Given the description of an element on the screen output the (x, y) to click on. 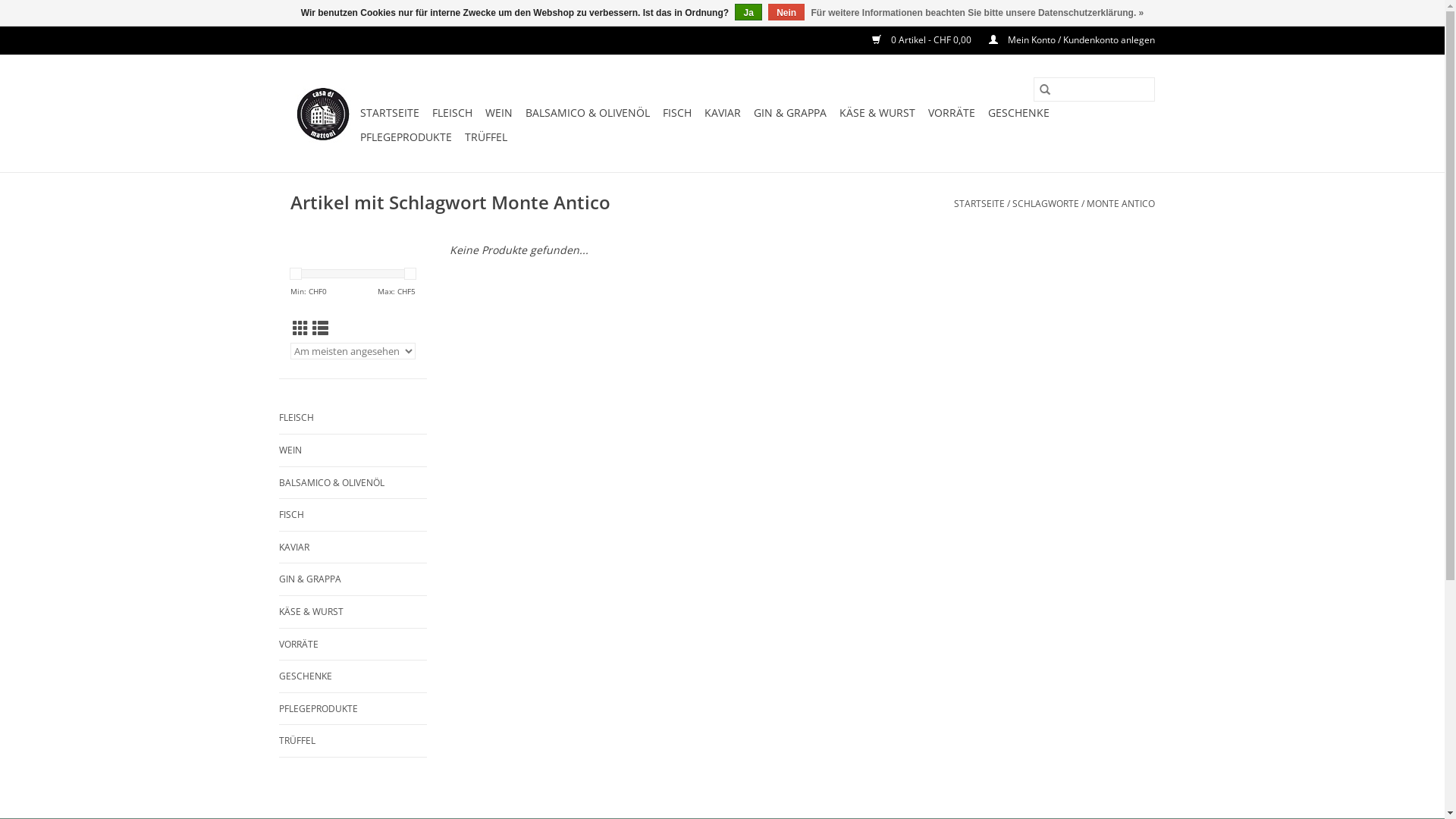
GIN & GRAPPA Element type: text (790, 112)
STARTSEITE Element type: text (978, 203)
GESCHENKE Element type: text (352, 676)
KAVIAR Element type: text (721, 112)
casa di mattoni - Feinkost Element type: hover (321, 113)
GESCHENKE Element type: text (1017, 112)
STARTSEITE Element type: text (388, 112)
FLEISCH Element type: text (451, 112)
FISCH Element type: text (352, 514)
FISCH Element type: text (677, 112)
Ja Element type: text (747, 11)
PFLEGEPRODUKTE Element type: text (352, 708)
FLEISCH Element type: text (352, 417)
Mein Konto / Kundenkonto anlegen Element type: text (1063, 39)
PFLEGEPRODUKTE Element type: text (404, 137)
WEIN Element type: text (498, 112)
SCHLAGWORTE Element type: text (1044, 203)
Nein Element type: text (786, 11)
WEIN Element type: text (352, 450)
0 Artikel - CHF 0,00 Element type: text (914, 39)
GIN & GRAPPA Element type: text (352, 579)
Suchen Element type: hover (1043, 89)
MONTE ANTICO Element type: text (1119, 203)
KAVIAR Element type: text (352, 547)
